Given the description of an element on the screen output the (x, y) to click on. 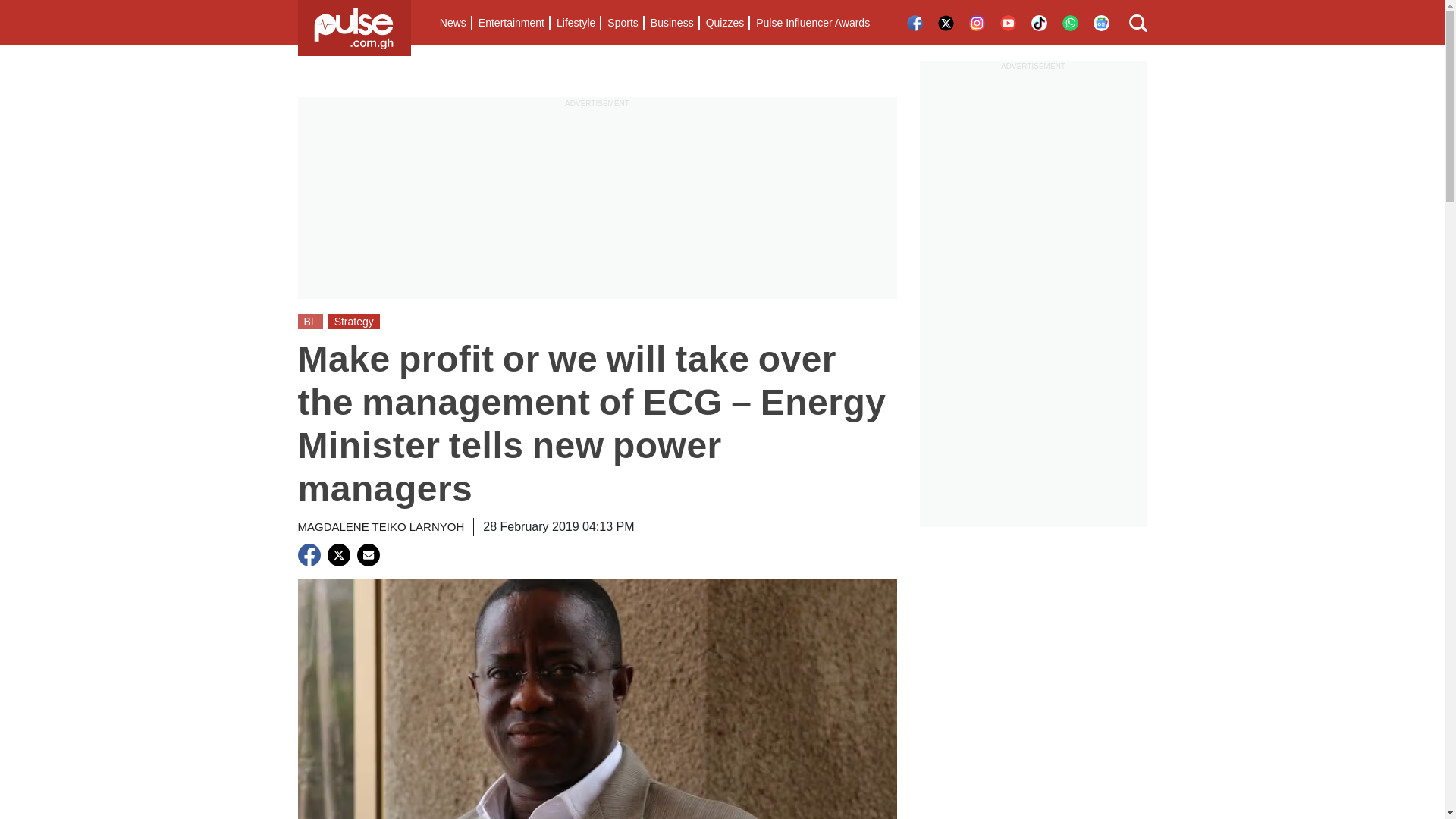
Lifestyle (575, 22)
Entertainment (510, 22)
Sports (622, 22)
Business (672, 22)
